Given the description of an element on the screen output the (x, y) to click on. 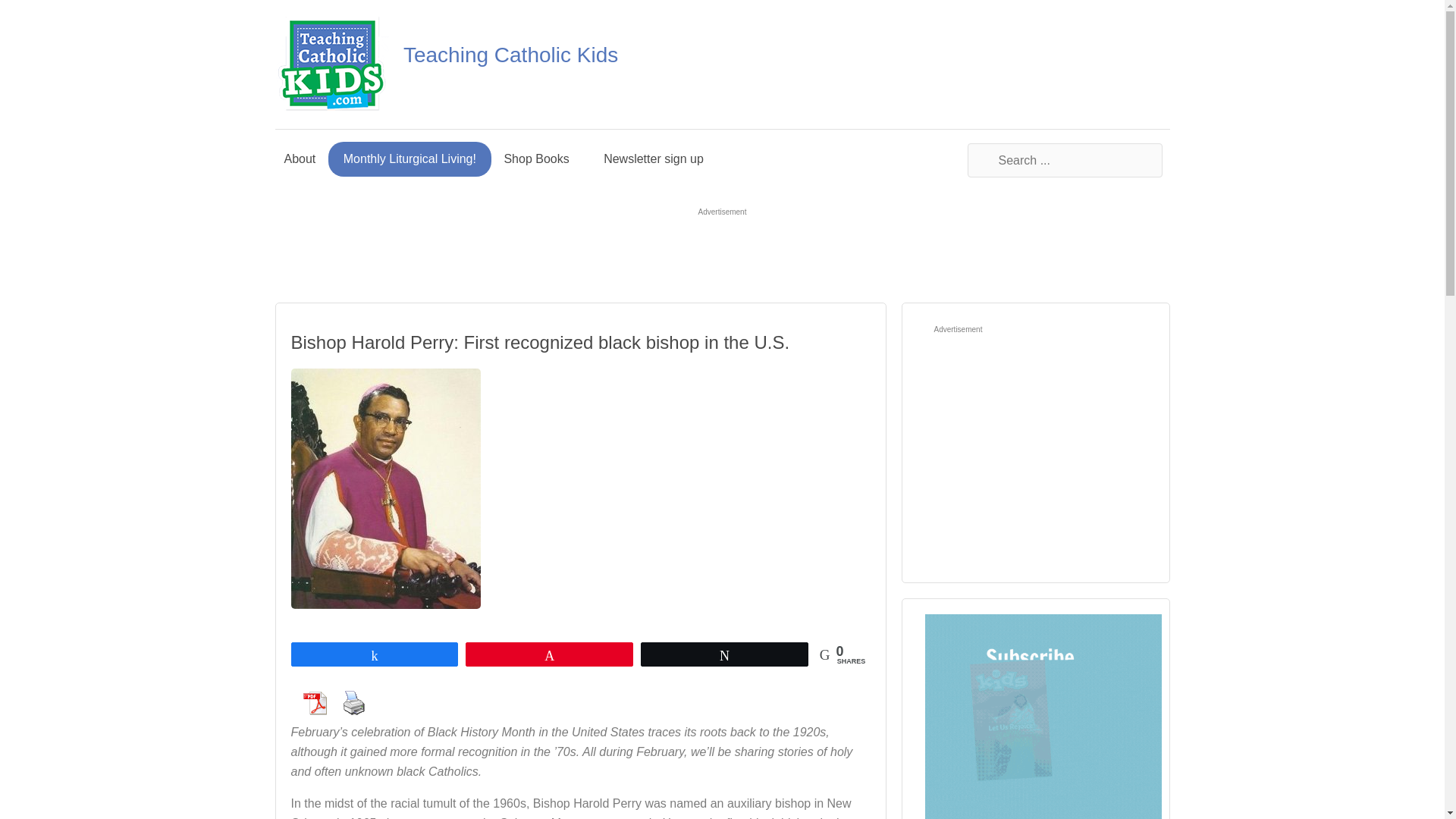
Facebook (990, 64)
Search (1178, 159)
Print Content (353, 703)
Shop Books (543, 159)
Search for: (1064, 160)
Monthly Liturgical Living! (410, 158)
Newsletter sign up (653, 159)
Instagram (1072, 64)
Teaching Catholic Kids (510, 54)
